Given the description of an element on the screen output the (x, y) to click on. 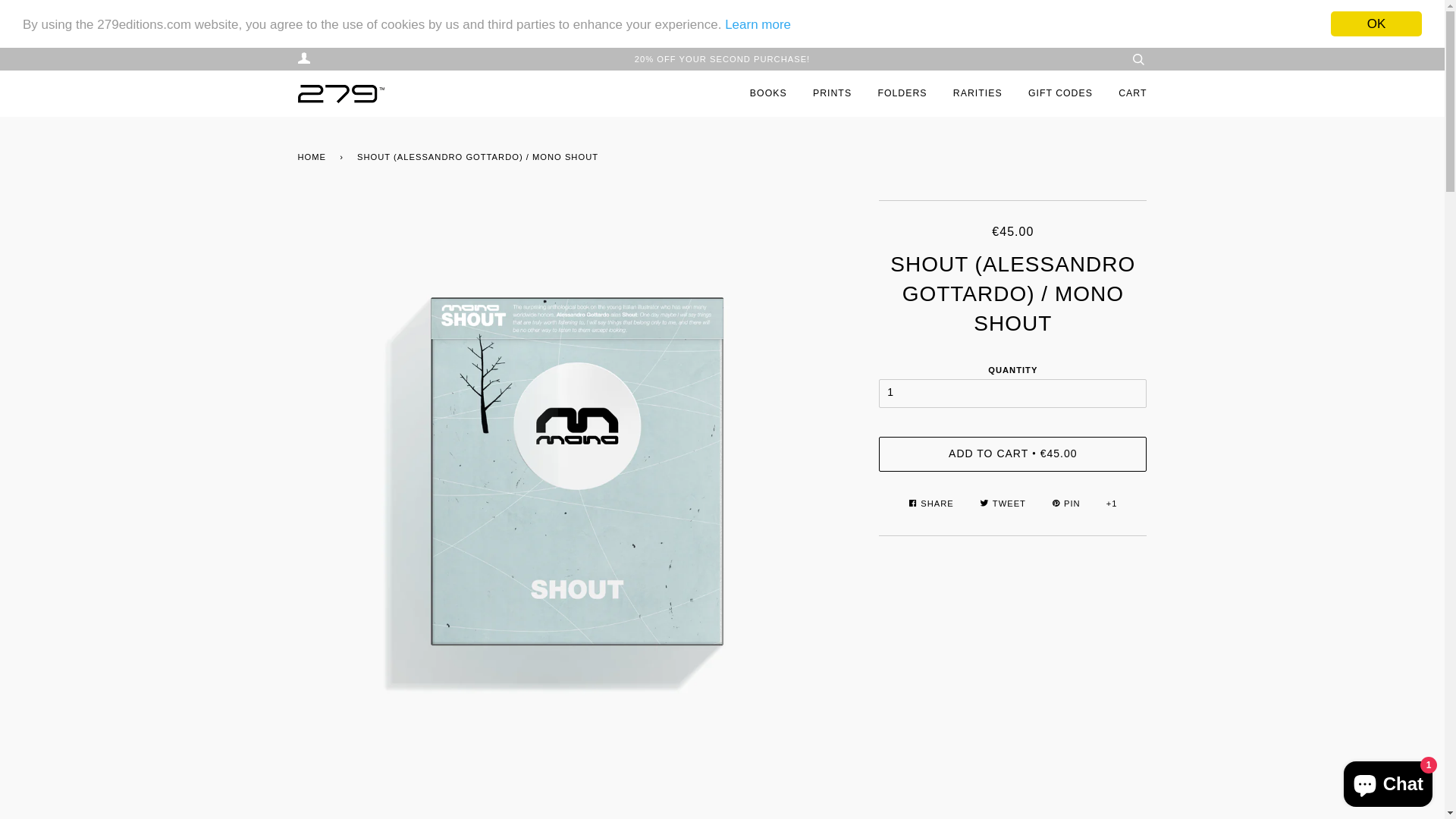
Shopify online store chat Element type: hover (1388, 780)
Learn more Element type: text (757, 23)
HOME Element type: text (314, 157)
SHARE Element type: text (932, 503)
RARITIES Element type: text (977, 93)
TWEET Element type: text (1004, 503)
PIN Element type: text (1067, 503)
FOLDERS Element type: text (901, 93)
GIFT CODES Element type: text (1060, 93)
PRINTS Element type: text (831, 93)
+1 Element type: text (1111, 503)
OK Element type: text (1375, 23)
CART Element type: text (1132, 93)
BOOKS Element type: text (768, 93)
